Given the description of an element on the screen output the (x, y) to click on. 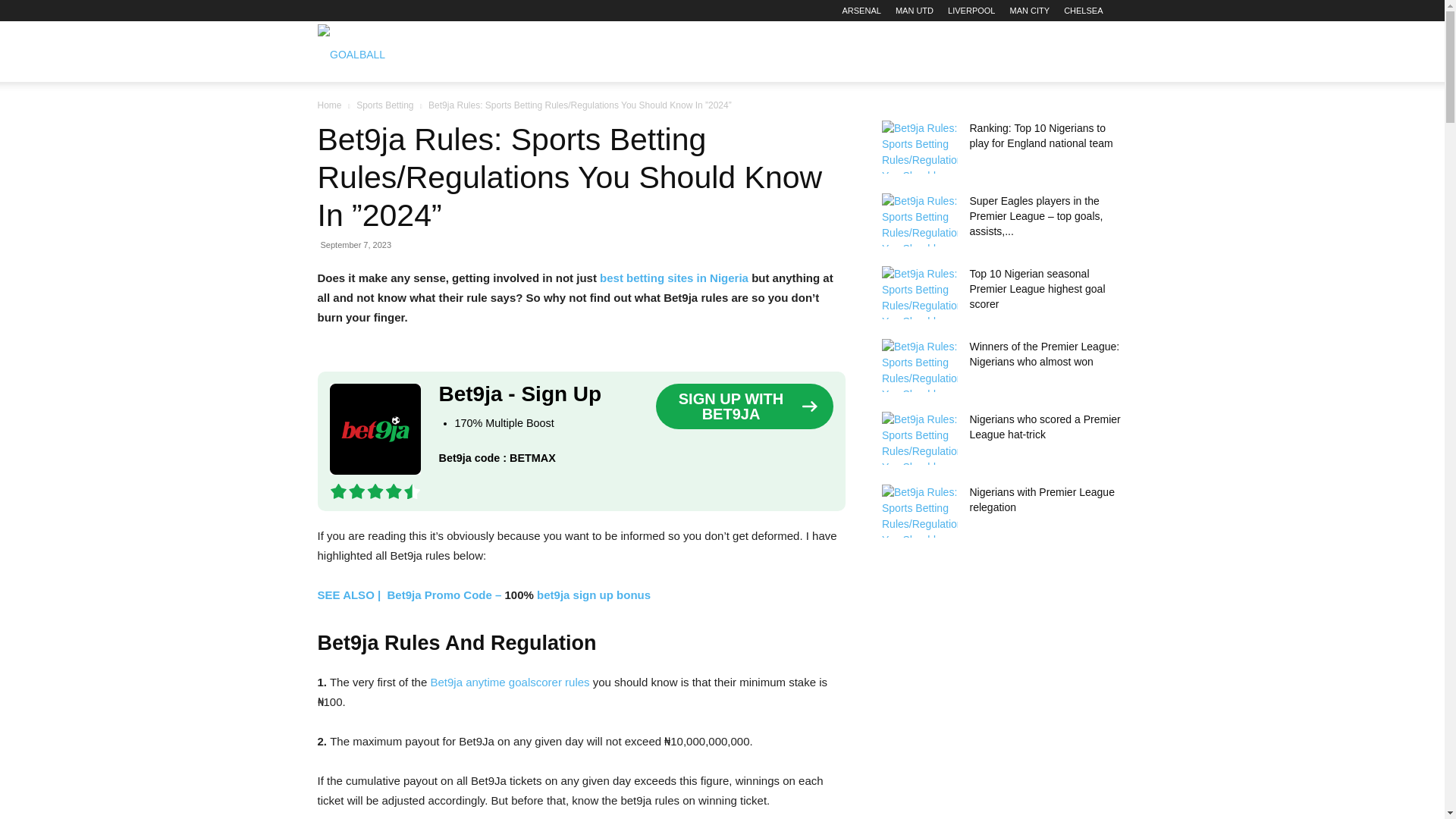
LIVERPOOL (970, 10)
ARSENAL (860, 10)
GOALBALL (350, 52)
Ranking: Top 10 Nigerians to play for England national team (918, 146)
Ranking: Top 10 Nigerians to play for England national team (1040, 135)
View all posts in Sports Betting (384, 104)
MAN UTD (914, 10)
